Given the description of an element on the screen output the (x, y) to click on. 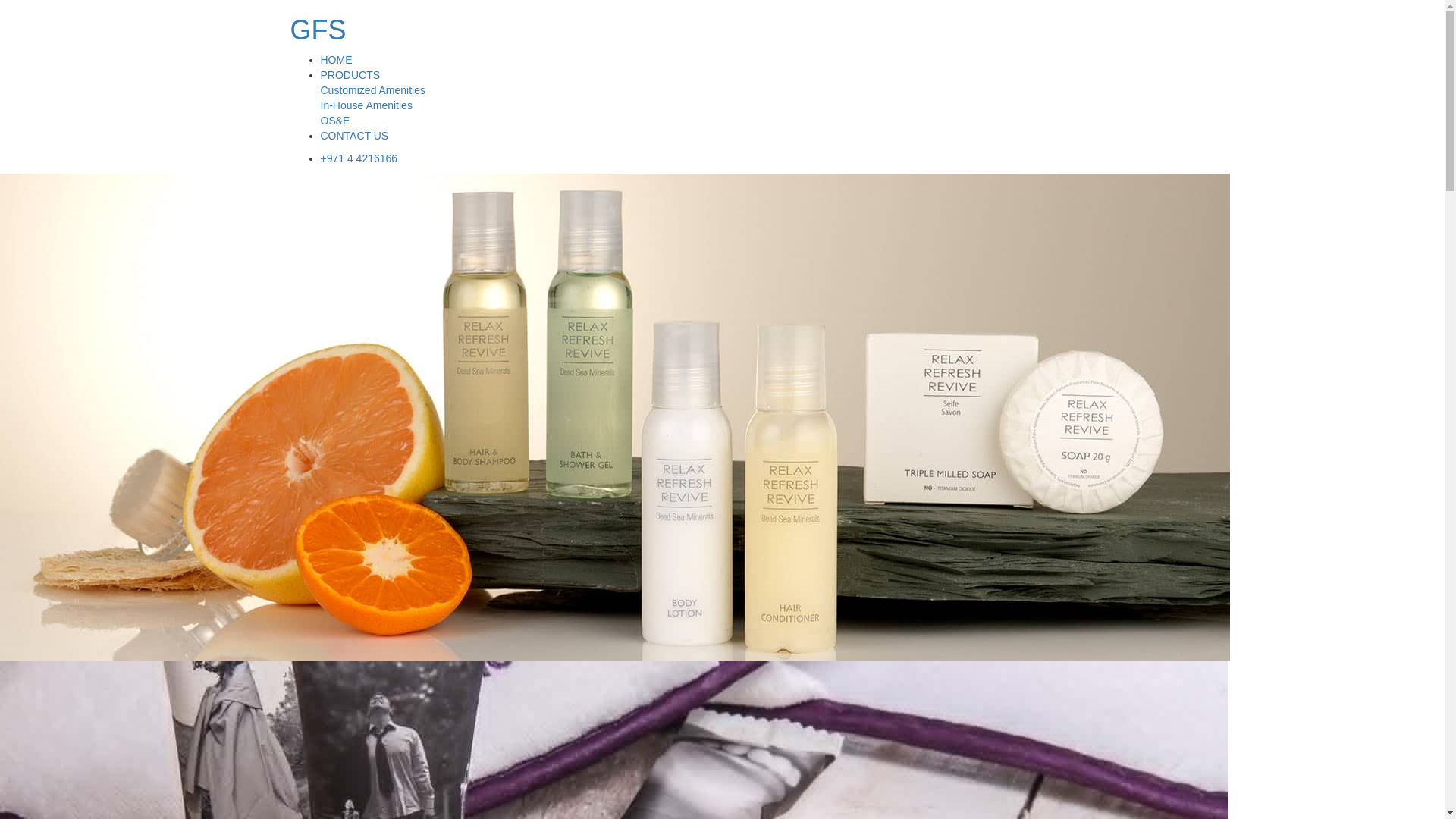
PRODUCTS (350, 74)
GFS (317, 29)
CONTACT US (354, 135)
In-House Amenities (366, 105)
GFS Total Hotel Supplies Solution (317, 29)
HOME (336, 60)
Customized Amenities (372, 90)
